Given the description of an element on the screen output the (x, y) to click on. 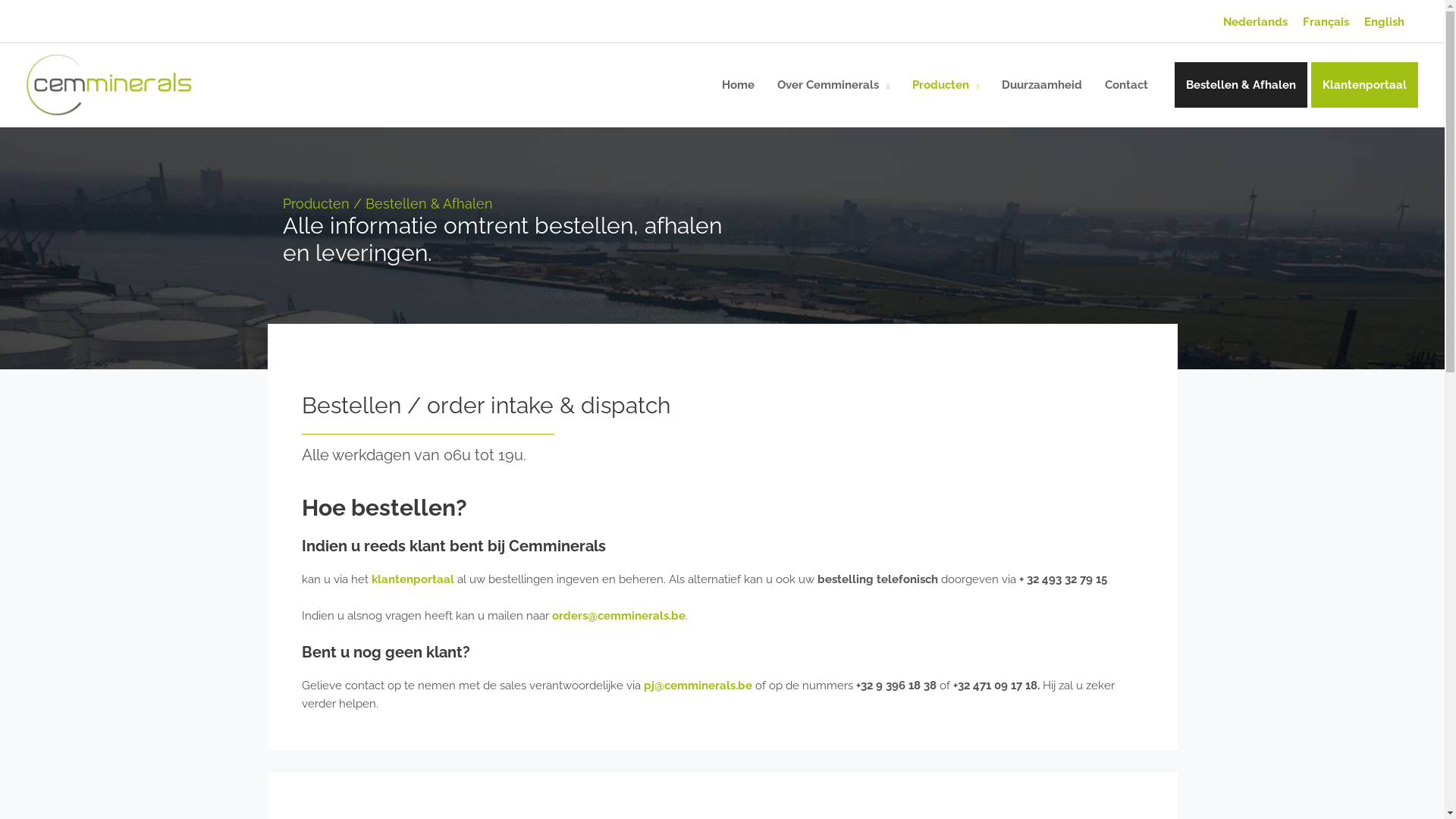
Nederlands Element type: text (1255, 22)
klantenportaal Element type: text (412, 579)
Bestellen & Afhalen Element type: text (1240, 84)
Klantenportaal Element type: text (1364, 84)
pj@cemminerals.be Element type: text (697, 685)
English Element type: text (1384, 22)
Duurzaamheid Element type: text (1041, 84)
Home Element type: text (737, 84)
Producten Element type: text (945, 84)
Contact Element type: text (1126, 84)
Over Cemminerals Element type: text (832, 84)
orders@cemminerals.be Element type: text (618, 615)
